Given the description of an element on the screen output the (x, y) to click on. 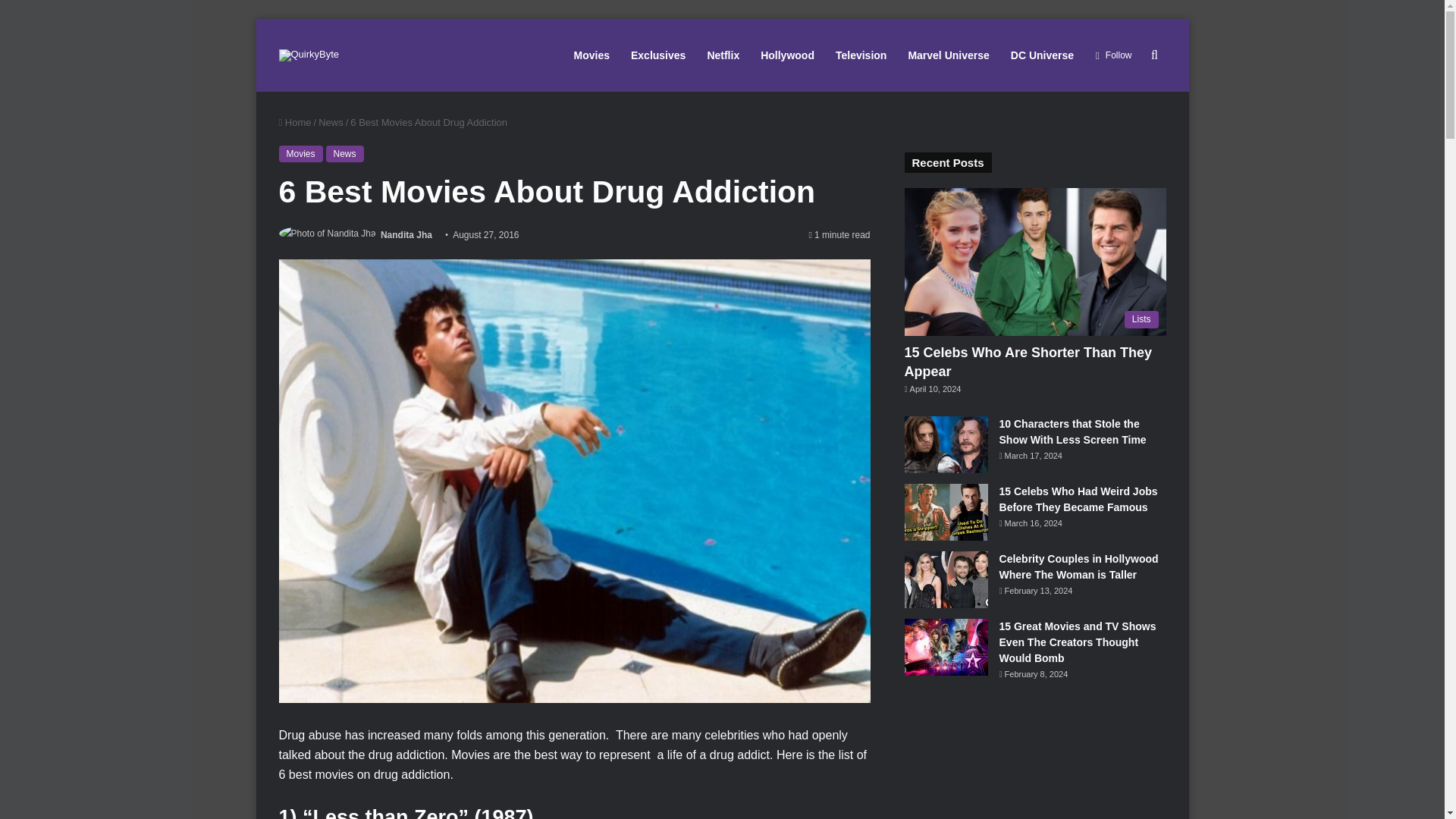
Movies (301, 153)
Marvel Universe (947, 54)
Exclusives (657, 54)
Hollywood (787, 54)
Nandita Jha (406, 235)
DC Universe (1042, 54)
Nandita Jha (406, 235)
Home (295, 122)
News (345, 153)
Marvel Universe (947, 54)
